Given the description of an element on the screen output the (x, y) to click on. 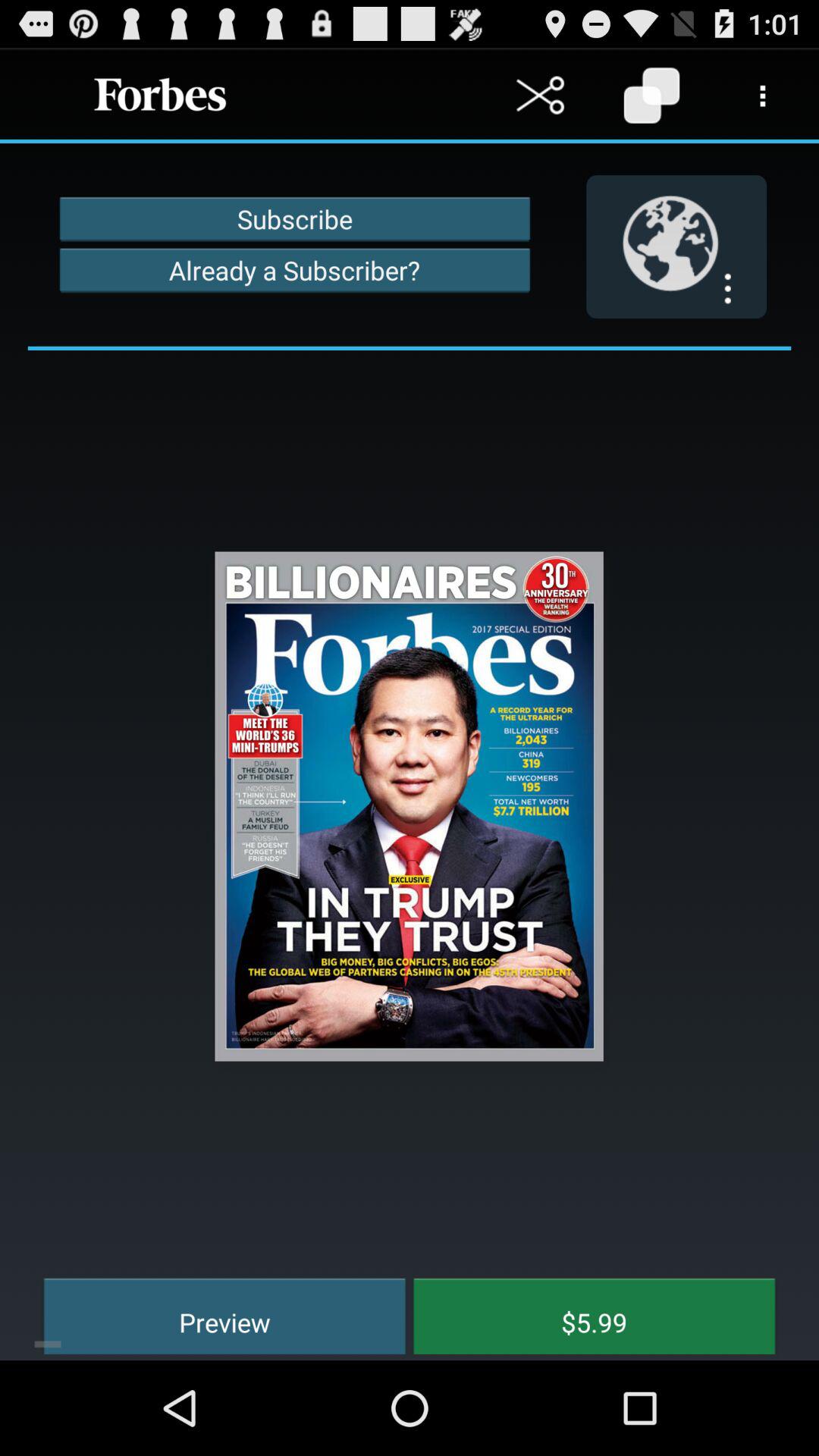
scroll until preview (213, 1314)
